Given the description of an element on the screen output the (x, y) to click on. 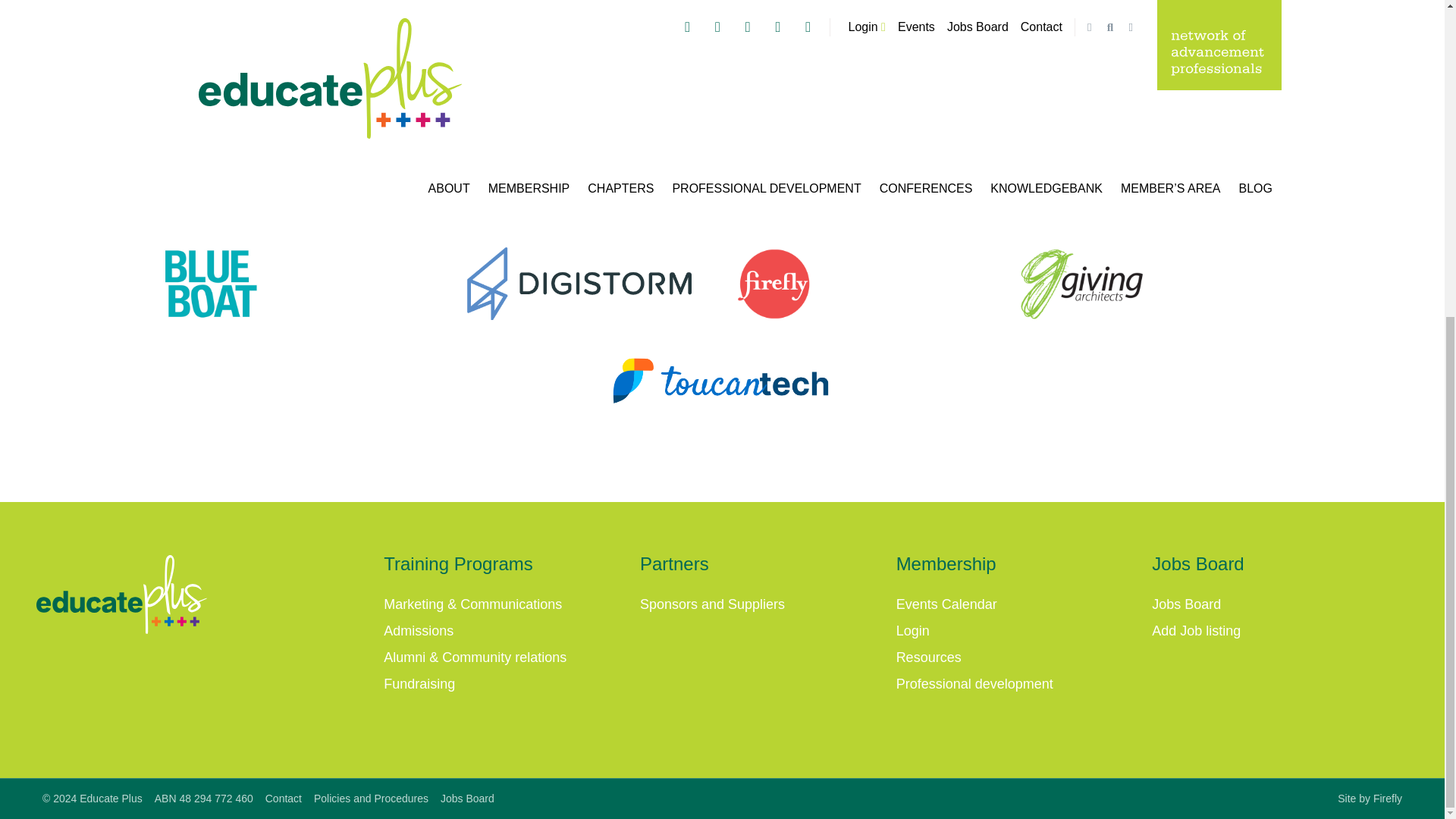
Website design by Firefly Digital (1369, 798)
Digistorm (580, 283)
Firefly Interactive (864, 283)
Blueboat (292, 283)
Toucan Tech (721, 379)
Giving Architects (1151, 283)
